Given the description of an element on the screen output the (x, y) to click on. 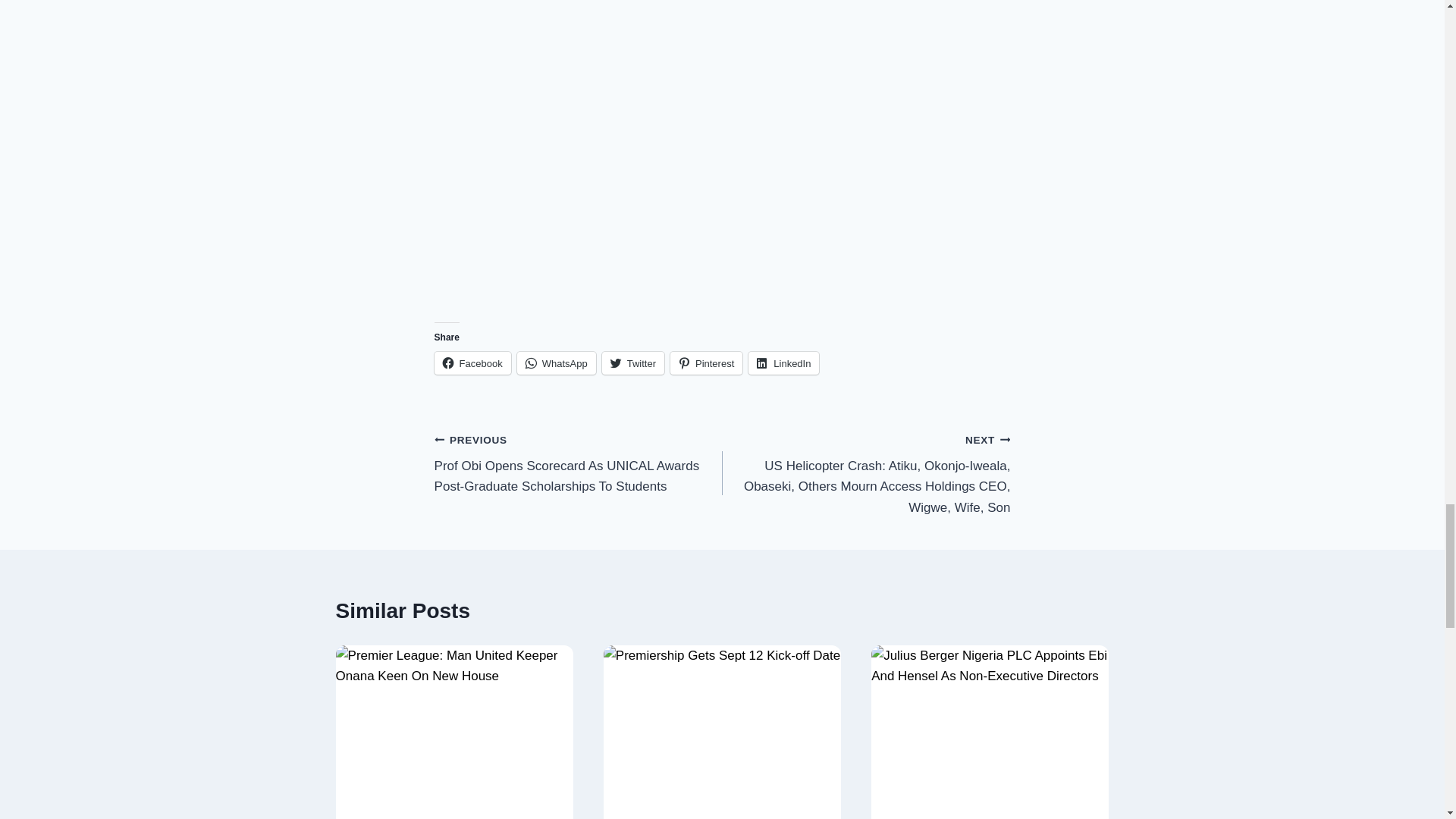
Click to share on WhatsApp (555, 363)
WhatsApp (555, 363)
Click to share on Twitter (632, 363)
Click to share on Facebook (472, 363)
Facebook (472, 363)
Click to share on LinkedIn (783, 363)
Click to share on Pinterest (705, 363)
